Given the description of an element on the screen output the (x, y) to click on. 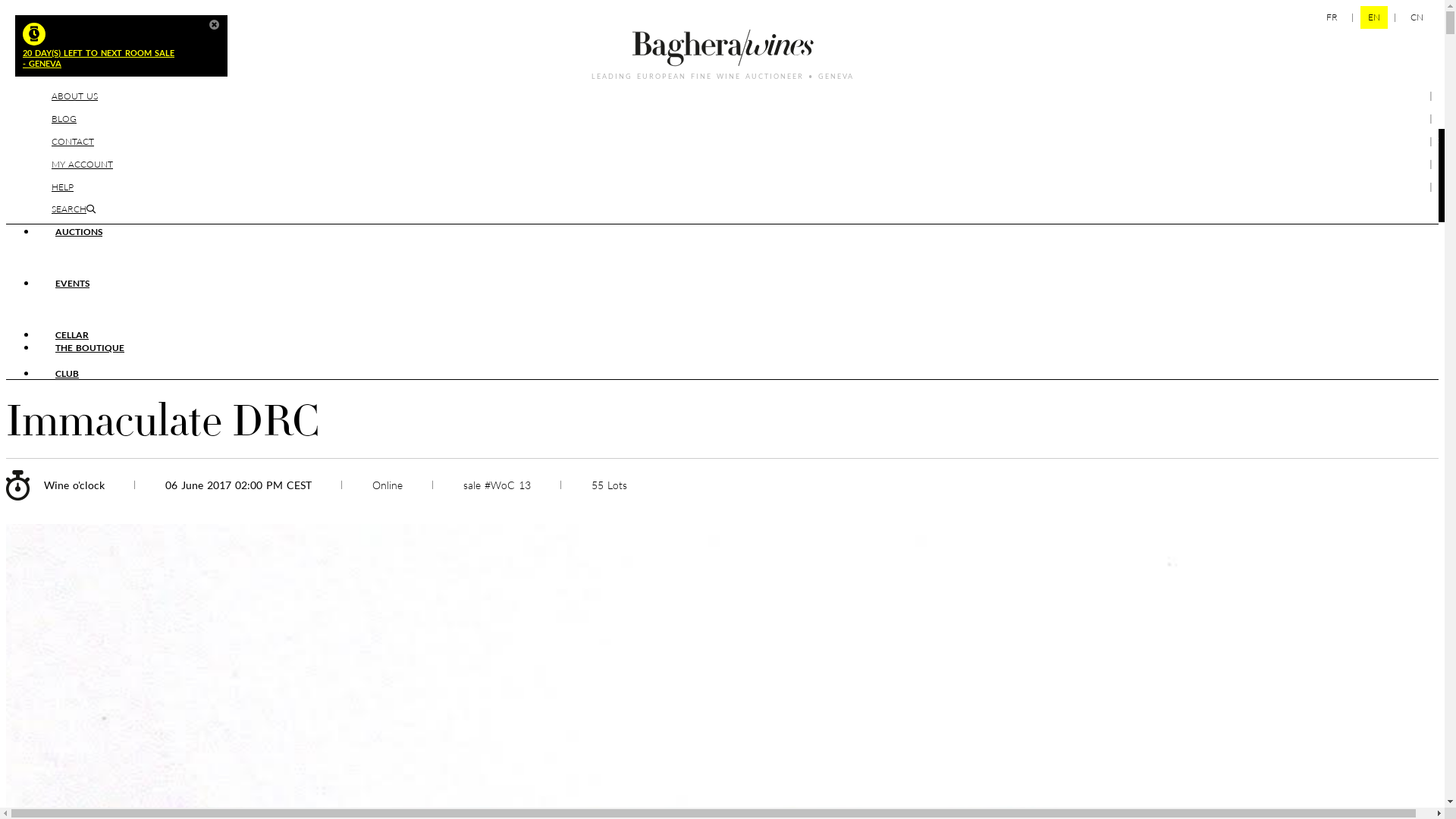
Baghera/wines Element type: text (722, 47)
EVENTS CALENDAR Element type: text (197, 321)
ARCHIVED AUCTIONS Element type: text (240, 270)
CONTACT Element type: text (72, 141)
OUR EVENTS Element type: text (83, 321)
BLOG Element type: text (63, 118)
AUCTION CALENDAR Element type: text (102, 270)
CN Element type: text (1416, 17)
SINGAPORE | KIPLING #6 PRIVATE DINNER SINGAPORE Element type: text (403, 295)
20 DAY(S) LEFT TO NEXT ROOM SALE - GENEVA Element type: text (113, 45)
FR Element type: text (1331, 17)
CLUB Element type: text (66, 373)
THE BOUTIQUE GENEVA Element type: text (257, 360)
EVENTS Element type: text (72, 282)
AUCTIONS Element type: text (78, 231)
HELP Element type: text (62, 186)
MY ACCOUNT Element type: text (82, 164)
SEARCH Element type: text (73, 208)
THE BOUTIQUE ONLINE Element type: text (108, 360)
RECORDS Element type: text (352, 270)
EN Element type: text (1373, 17)
PAST EVENTS Element type: text (311, 321)
KIPLING #6 Element type: text (80, 244)
CELLAR Element type: text (71, 334)
ABOUT US Element type: text (74, 95)
SINGAPORE | THE WINES OF E.REYNAUD Element type: text (146, 295)
THE BOUTIQUE Element type: text (89, 347)
